Given the description of an element on the screen output the (x, y) to click on. 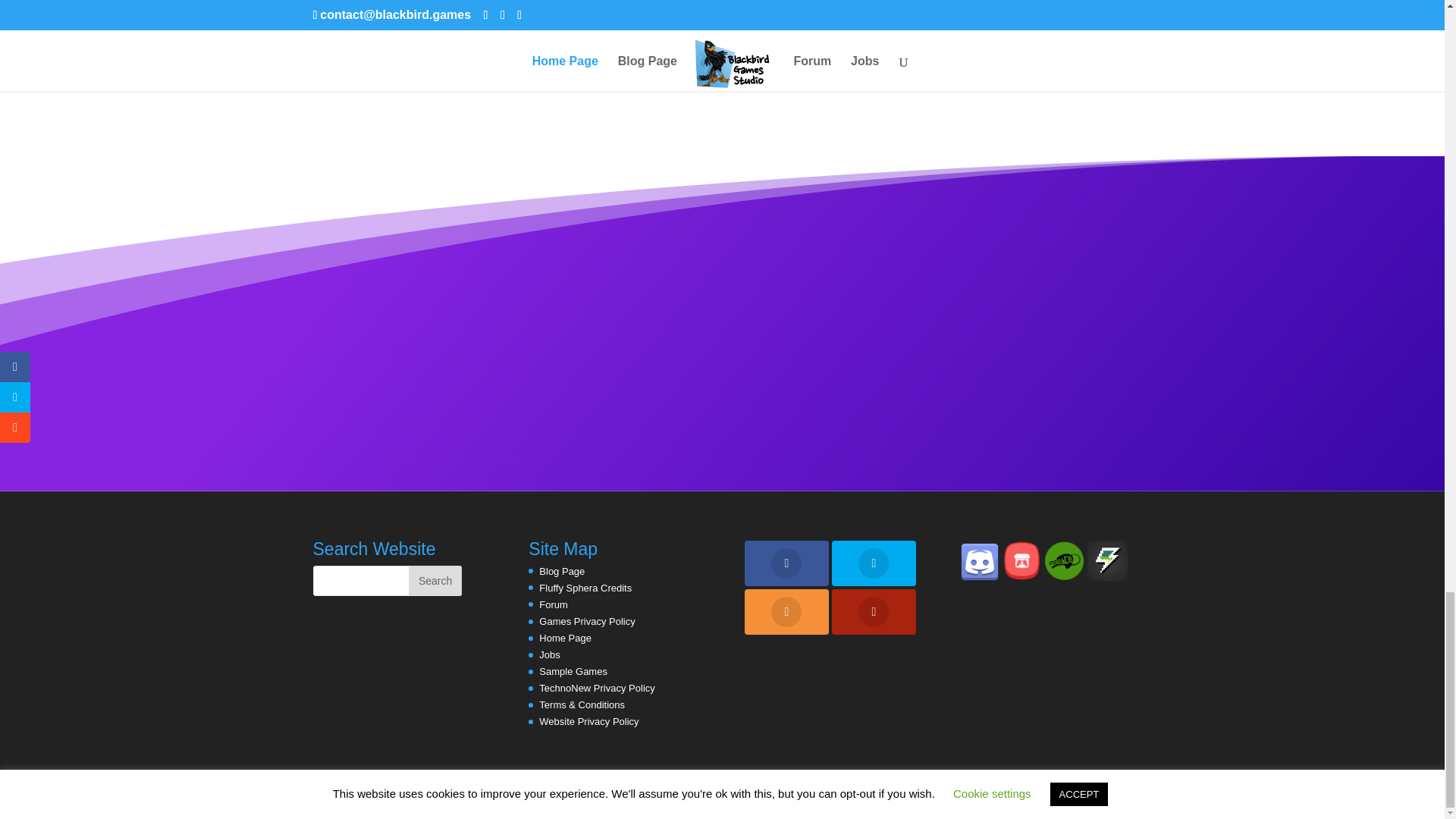
Blog Page (561, 570)
Search (435, 580)
Home Page (564, 637)
Games Privacy Policy (586, 621)
Fluffy Sphera Credits (584, 587)
Next (1111, 19)
Search (435, 580)
Forum (552, 604)
